Given the description of an element on the screen output the (x, y) to click on. 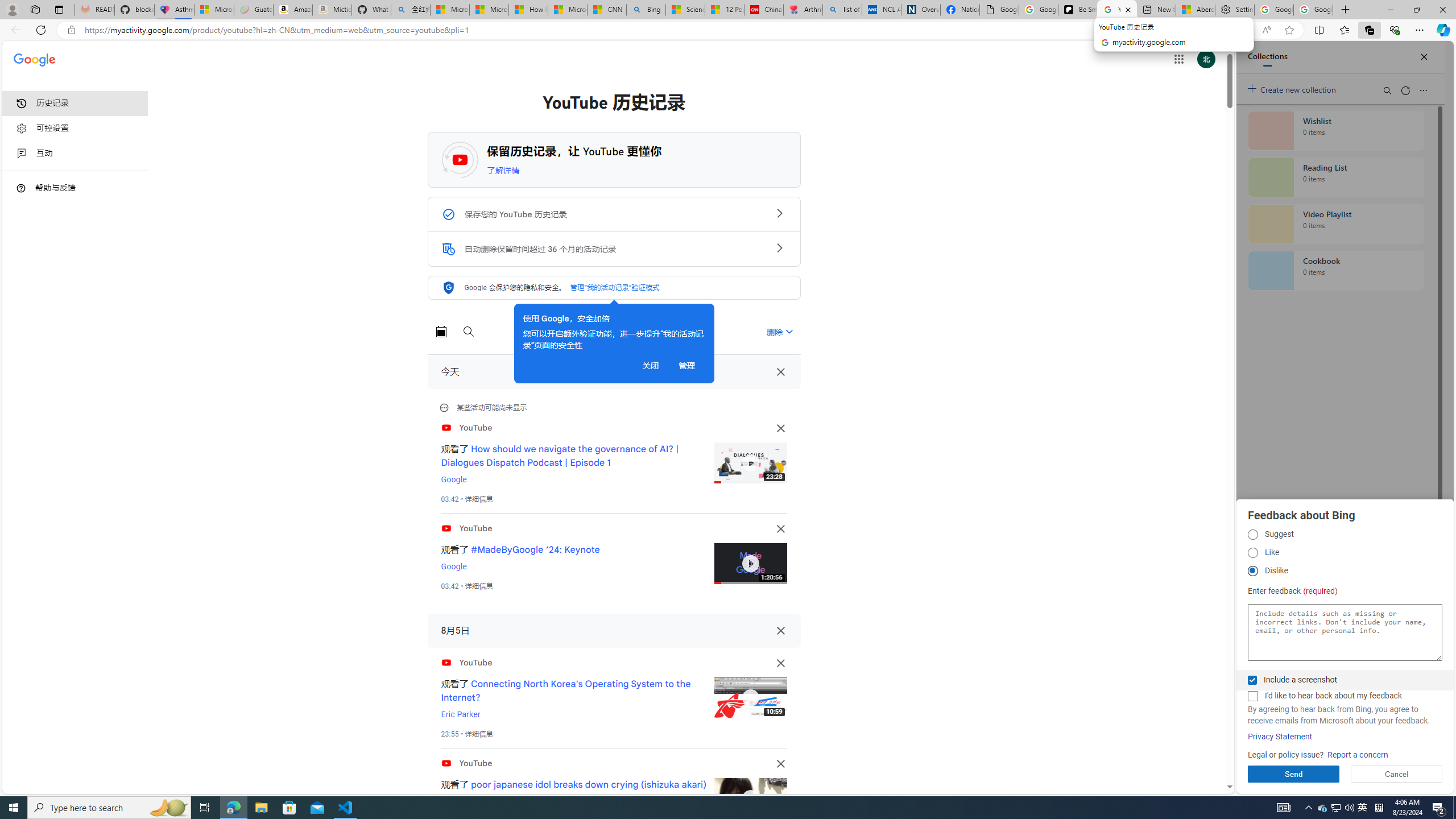
Class: DTiKkd NMm5M (21, 188)
AutomationID: fbpgdgcmchk (1252, 696)
Dislike Dislike (1252, 570)
Class: asE2Ub NMm5M (788, 331)
